Given the description of an element on the screen output the (x, y) to click on. 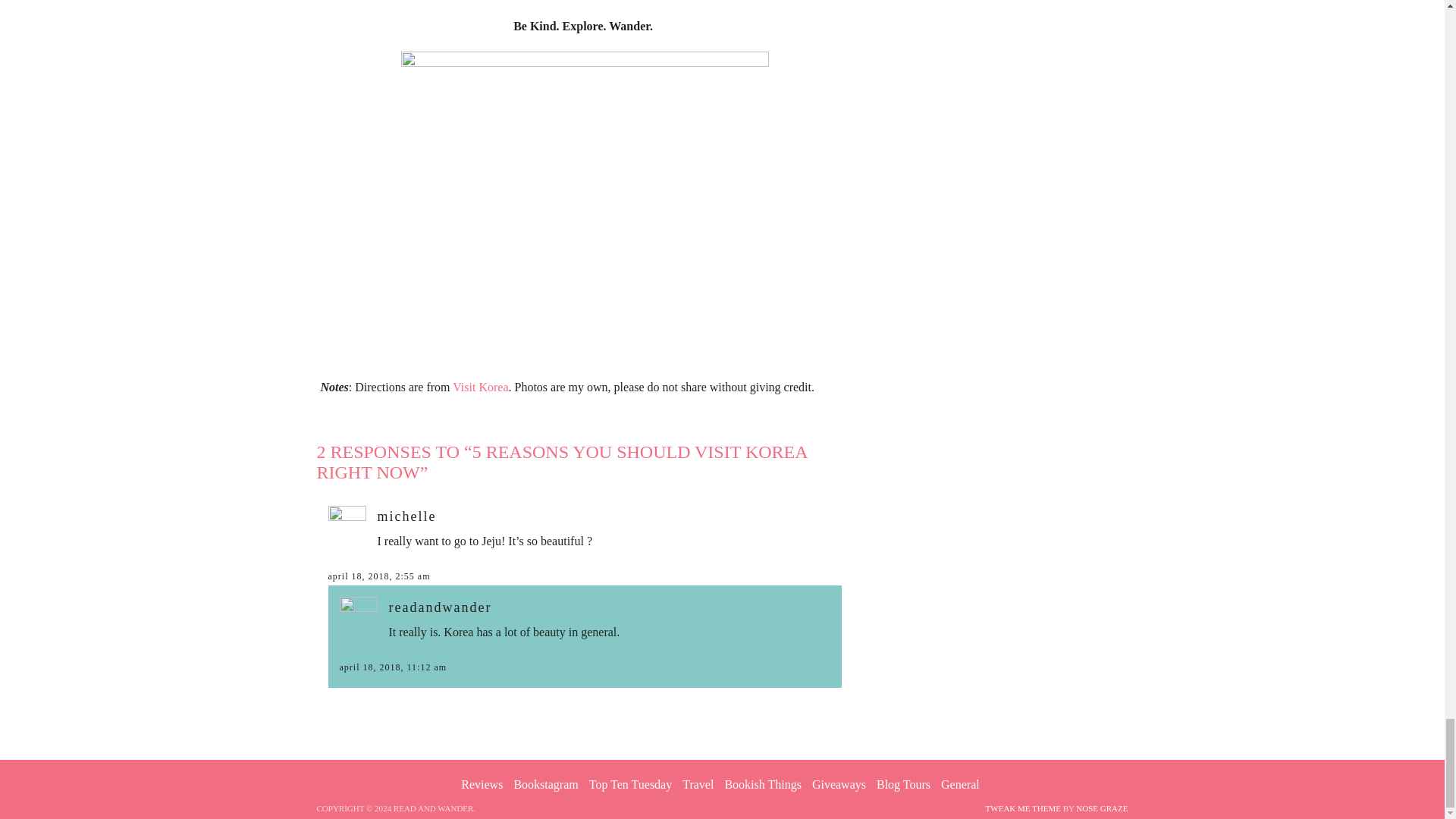
NOSE GRAZE (1100, 808)
General (959, 784)
Bookstagram (545, 784)
Giveaways (839, 784)
april 18, 2018, 11:12 am (392, 666)
Reviews (481, 784)
april 18, 2018, 2:55 am (378, 575)
Blog Tours (903, 784)
Bookish Things (762, 784)
Visit Korea (480, 386)
